Given the description of an element on the screen output the (x, y) to click on. 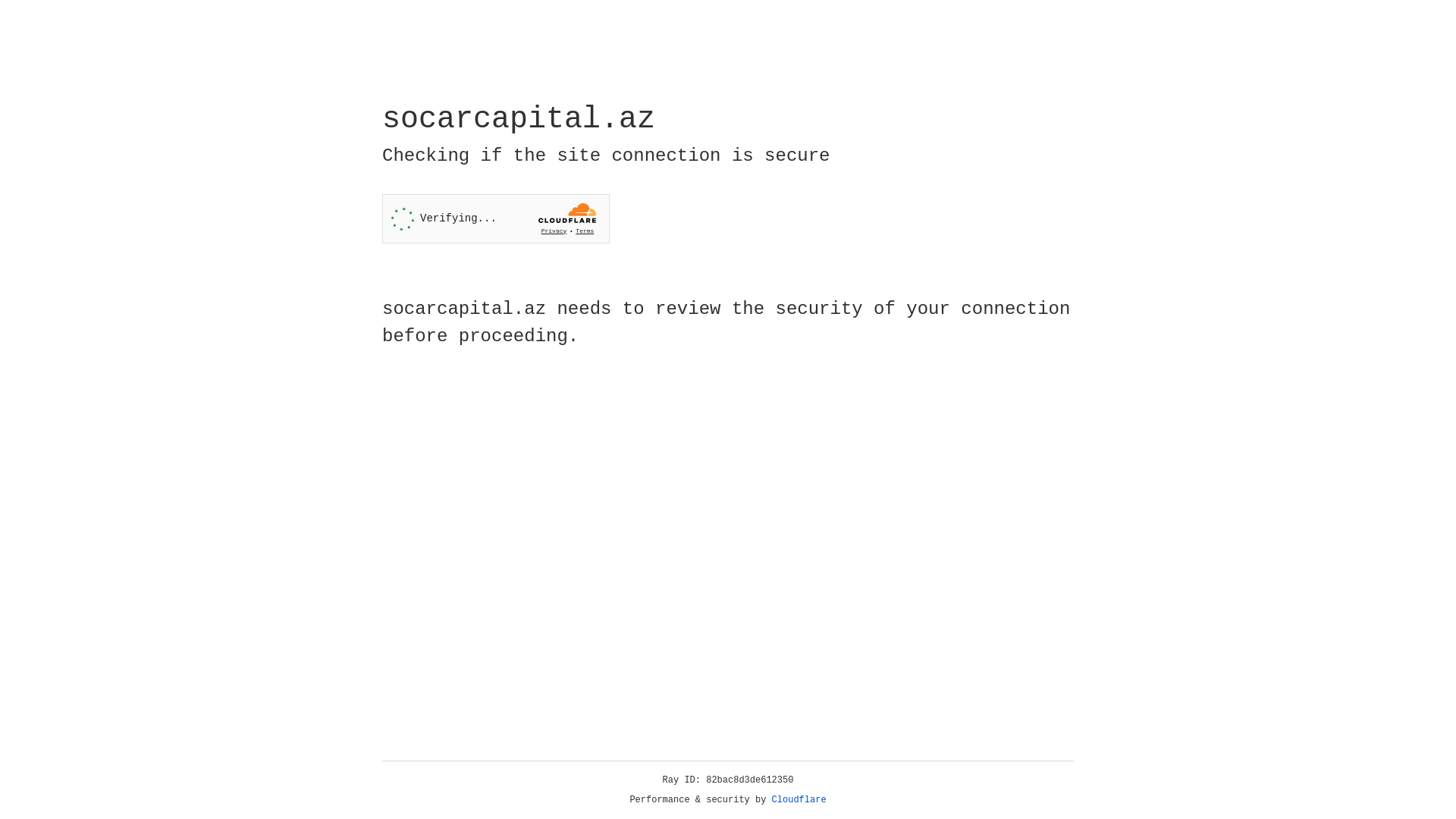
Cloudflare Element type: text (798, 799)
Widget containing a Cloudflare security challenge Element type: hover (495, 218)
